Given the description of an element on the screen output the (x, y) to click on. 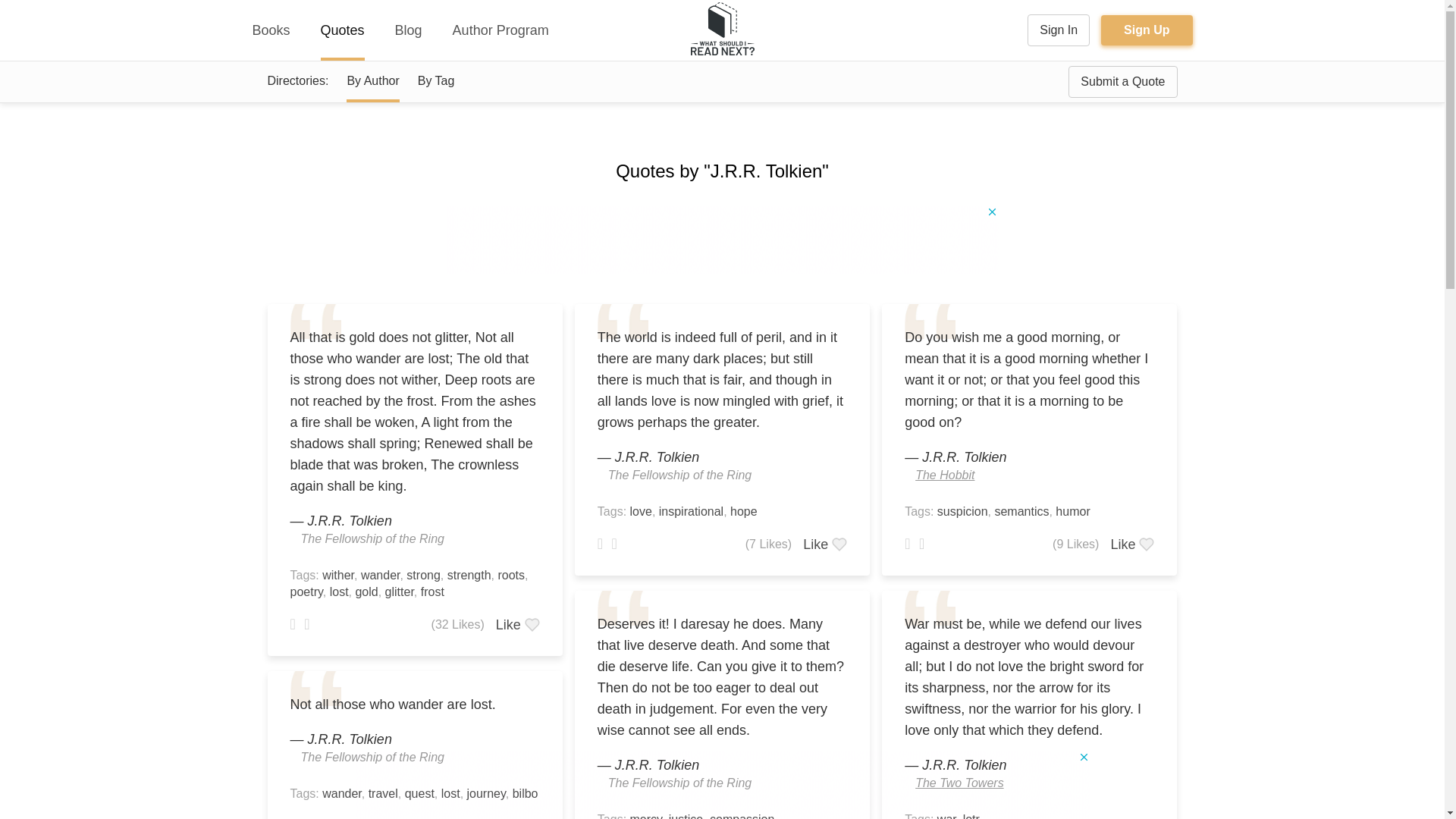
gold (366, 591)
J.R.R. Tolkien (349, 739)
Submit a Quote (1122, 81)
J.R.R. Tolkien (349, 520)
Not all those who wander are lost. (413, 703)
quest (418, 793)
wander (380, 574)
Sign In (1058, 29)
Sign Up (1146, 30)
lost (450, 793)
Books (270, 30)
travel (382, 793)
wither (337, 574)
glitter (399, 591)
